Given the description of an element on the screen output the (x, y) to click on. 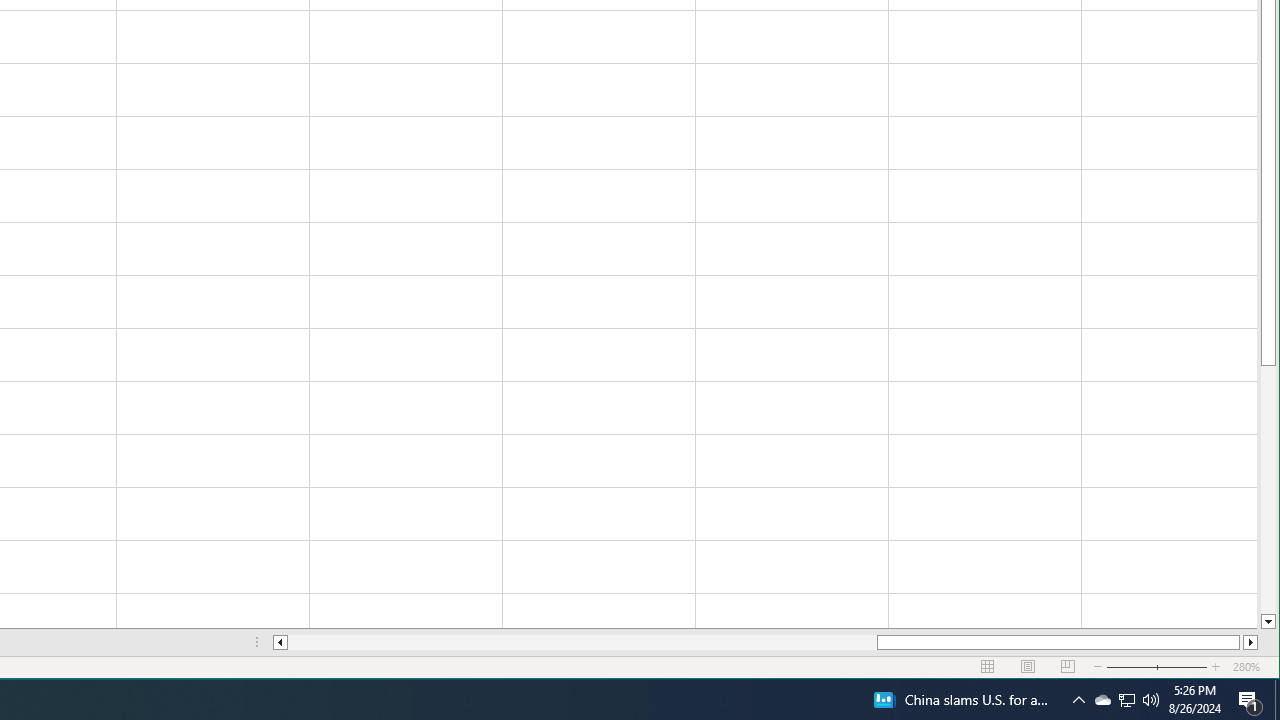
Show desktop (1277, 699)
Page left (582, 642)
